Given the description of an element on the screen output the (x, y) to click on. 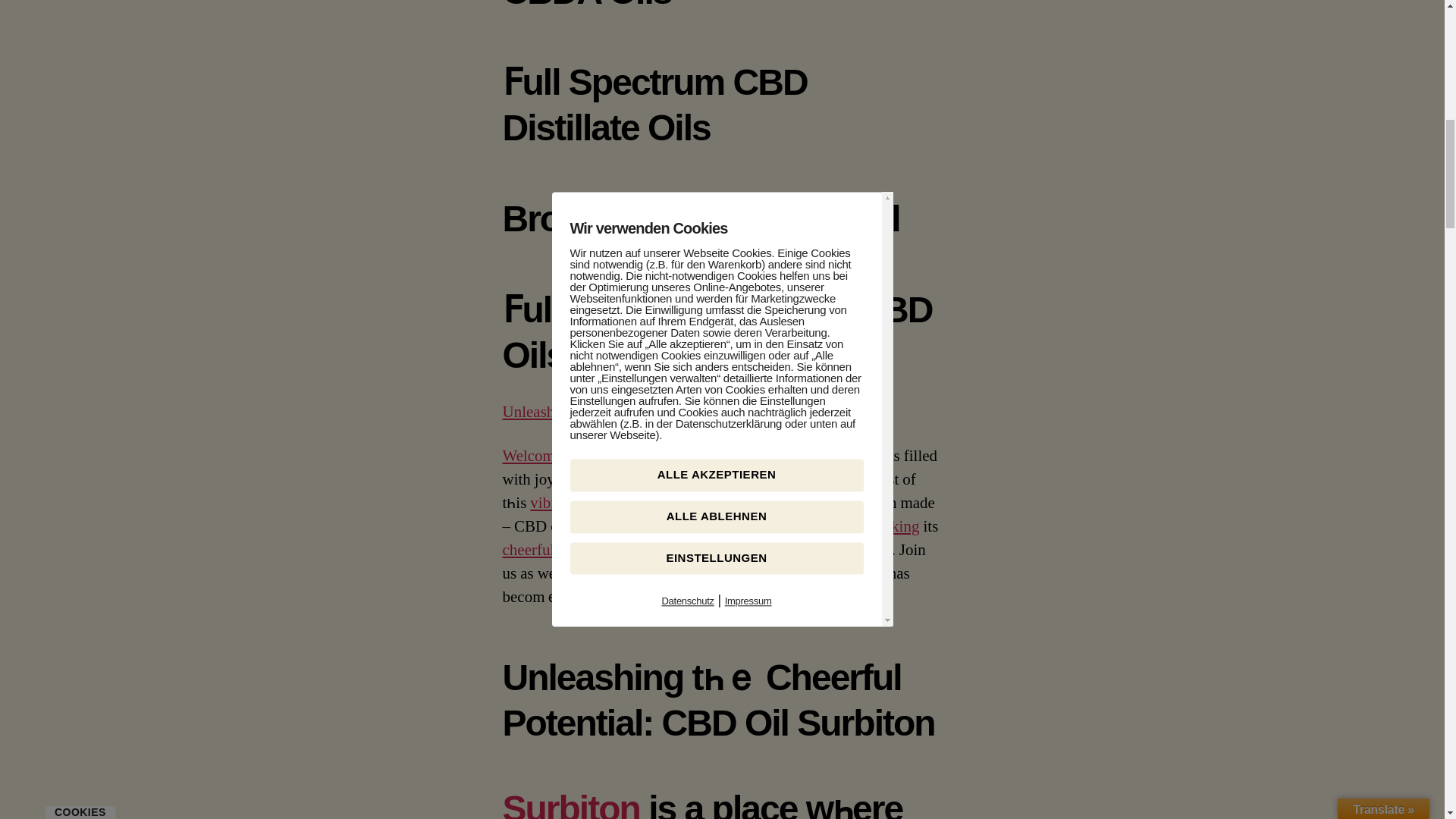
Welcome (532, 455)
contagious (779, 479)
discovery (807, 503)
magnificent (643, 455)
vibrant (552, 503)
Cheerful (630, 412)
embraced (689, 526)
natural (772, 526)
groundbreaking (721, 503)
Surbiton (602, 526)
